Given the description of an element on the screen output the (x, y) to click on. 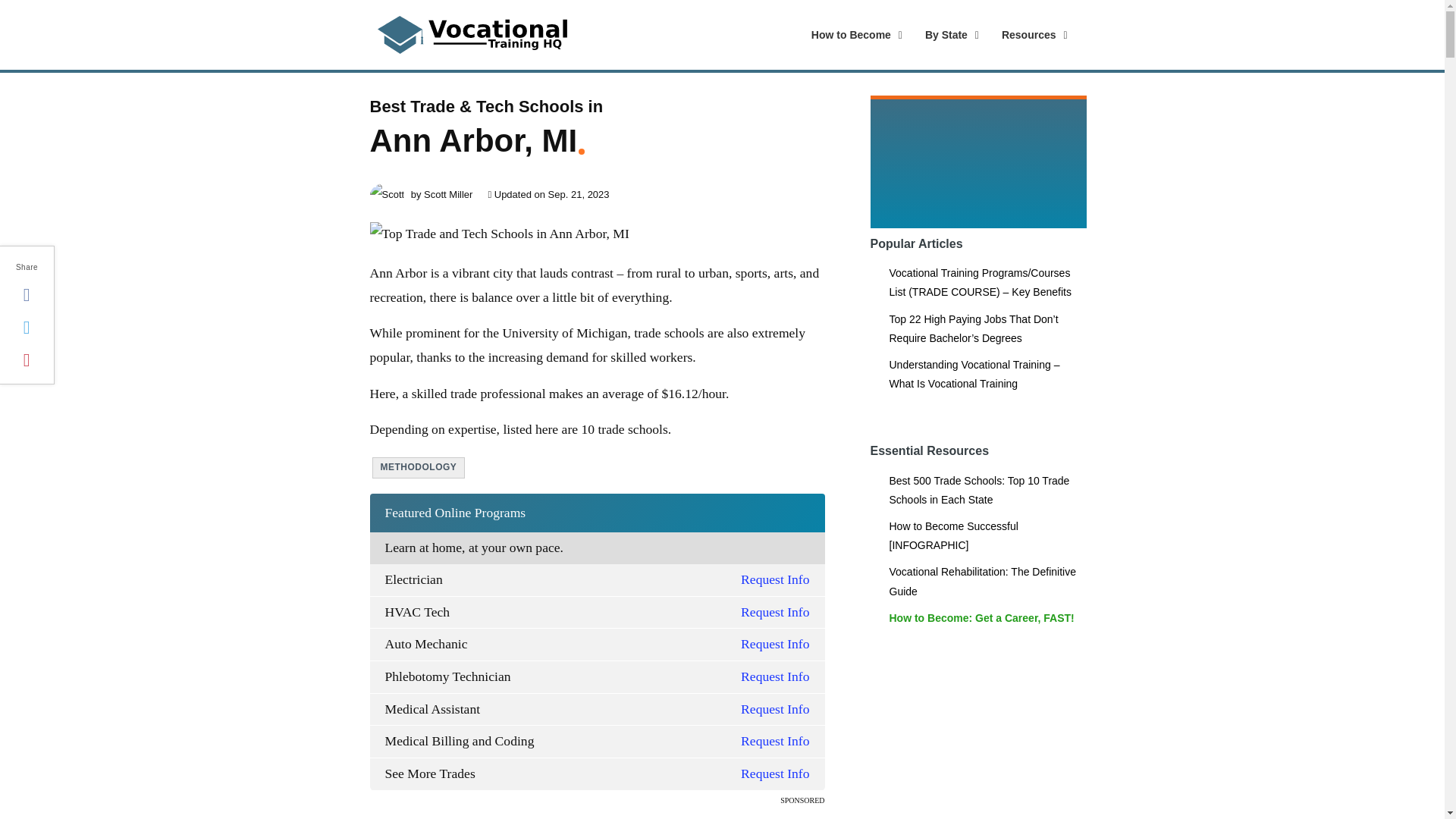
How to Become (935, 34)
By State (853, 34)
